Given the description of an element on the screen output the (x, y) to click on. 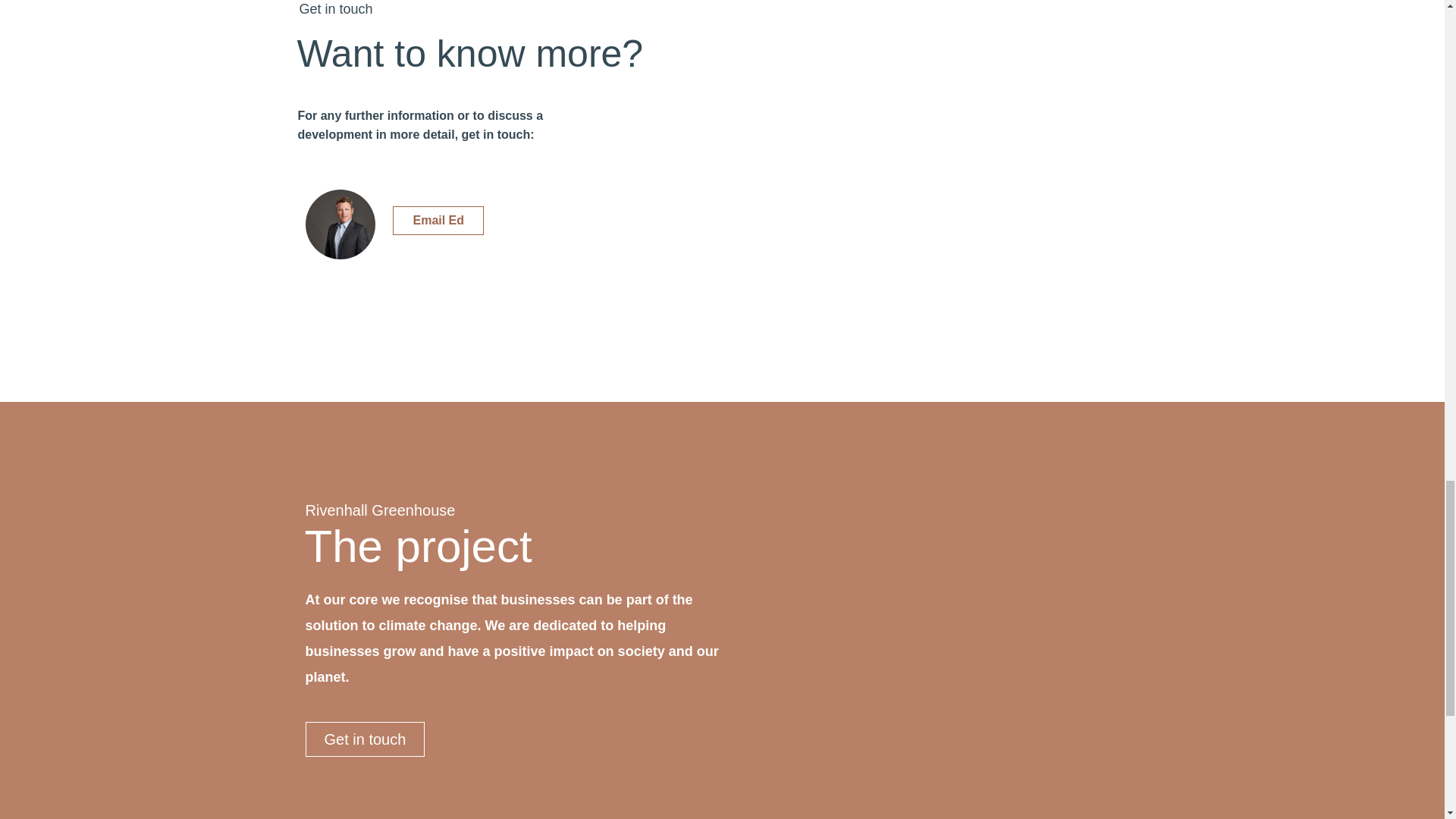
Email Ed (438, 220)
Get in touch (364, 738)
